Given the description of an element on the screen output the (x, y) to click on. 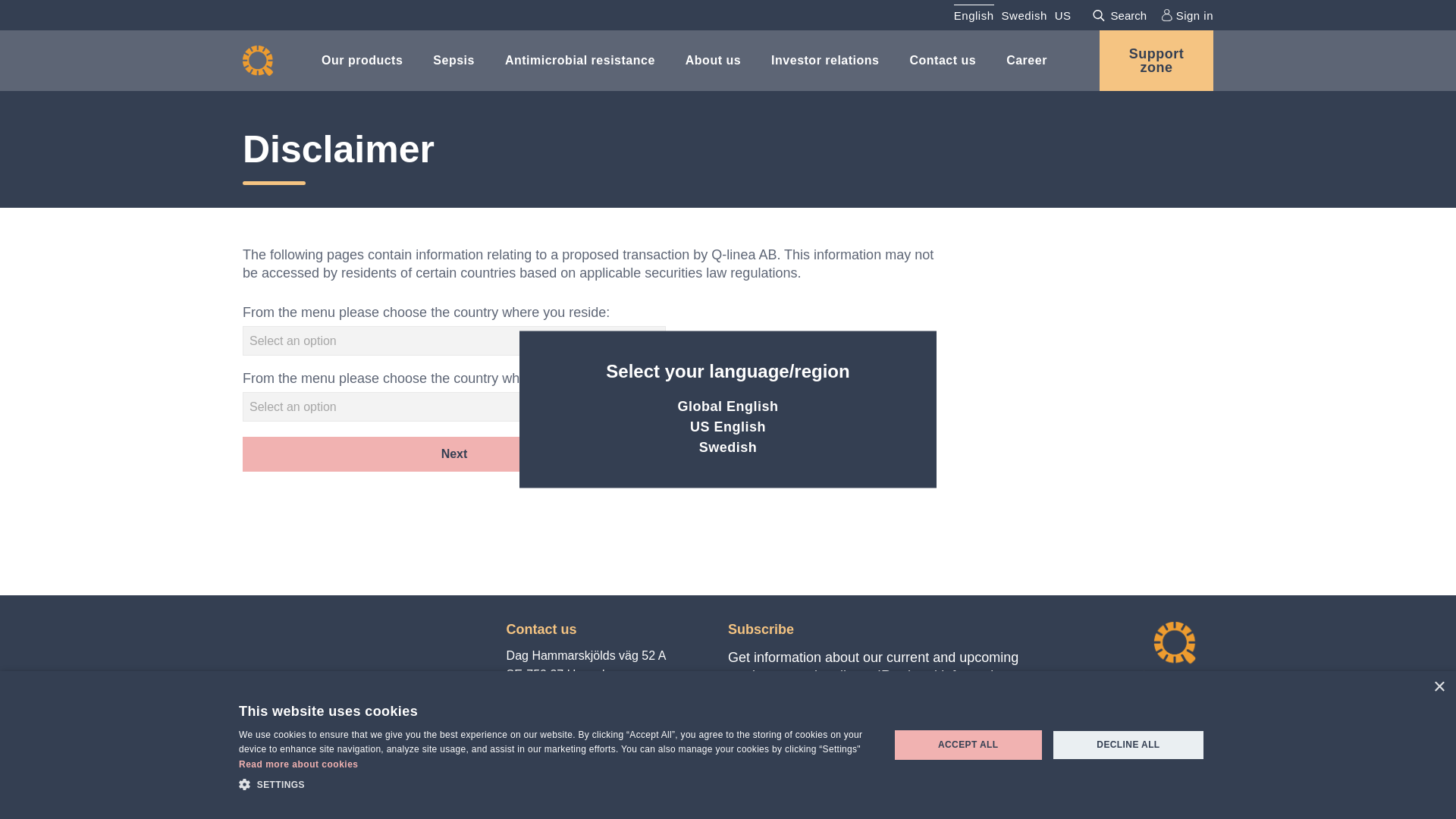
Swedish (727, 447)
Sign in (1186, 15)
Subscribe to newsletter (818, 738)
Sepsis (453, 59)
US English (727, 426)
Global English (727, 406)
Antimicrobial resistance (580, 59)
Swedish (1023, 14)
Twitter (544, 762)
About us (713, 59)
Our products (362, 59)
Investor relations (825, 59)
IR-related information (1012, 738)
English (973, 14)
